Given the description of an element on the screen output the (x, y) to click on. 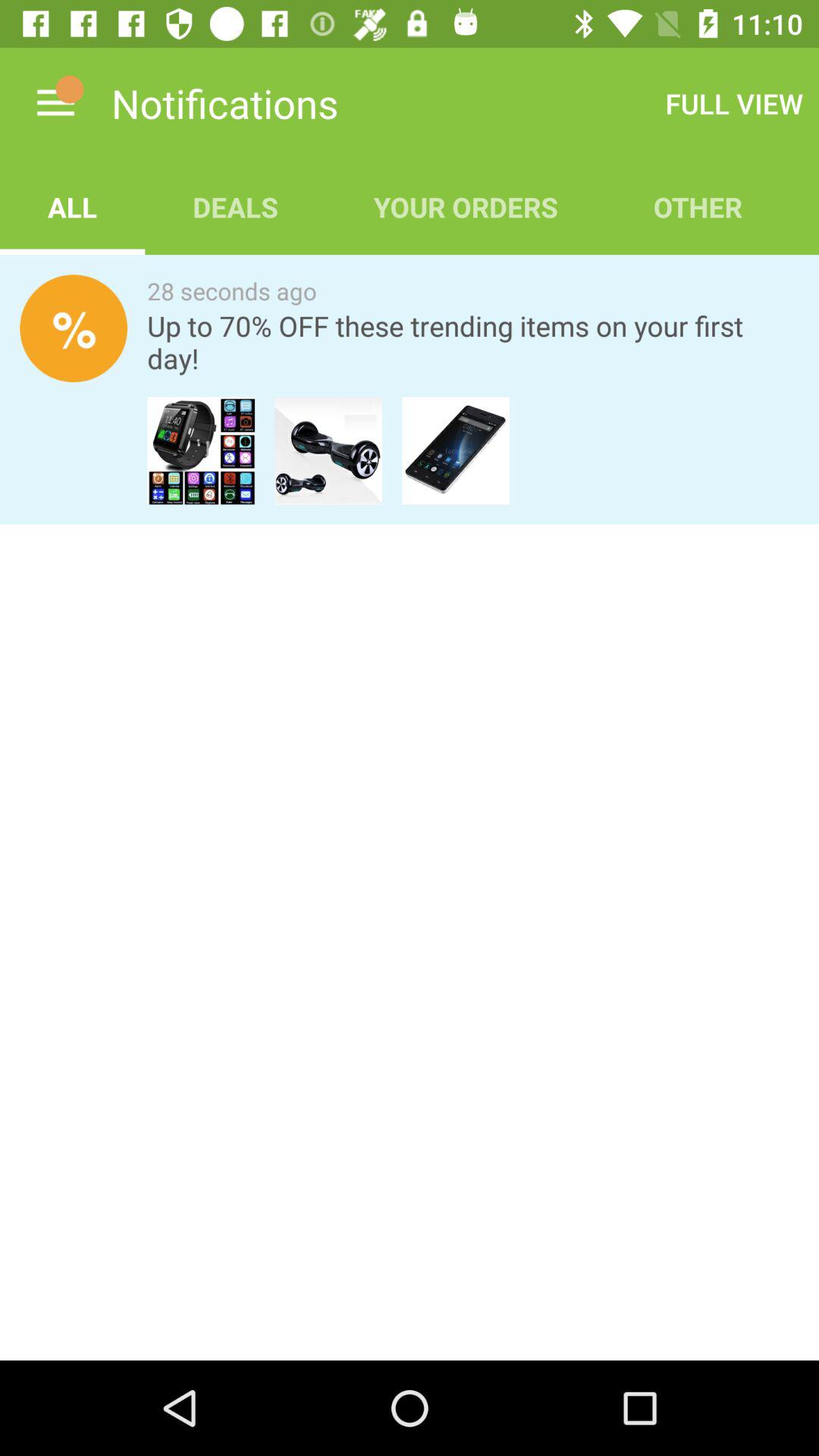
press the icon next to the deals icon (72, 206)
